Given the description of an element on the screen output the (x, y) to click on. 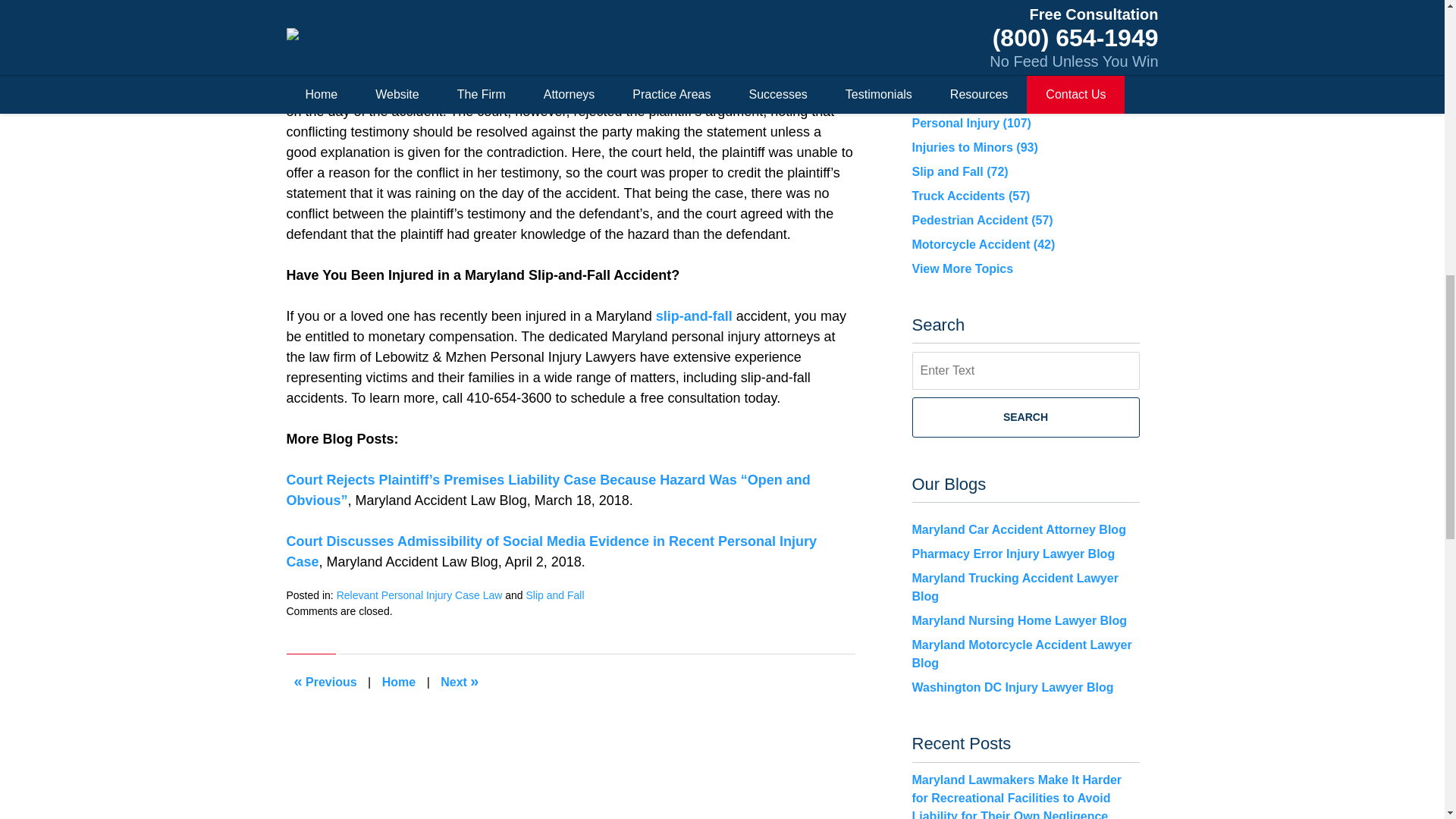
slip-and-fall (694, 315)
Home (398, 682)
Relevant Personal Injury Case Law (419, 594)
View all posts in Slip and Fall (554, 594)
View all posts in Relevant Personal Injury Case Law (419, 594)
Slip and Fall (554, 594)
